Given the description of an element on the screen output the (x, y) to click on. 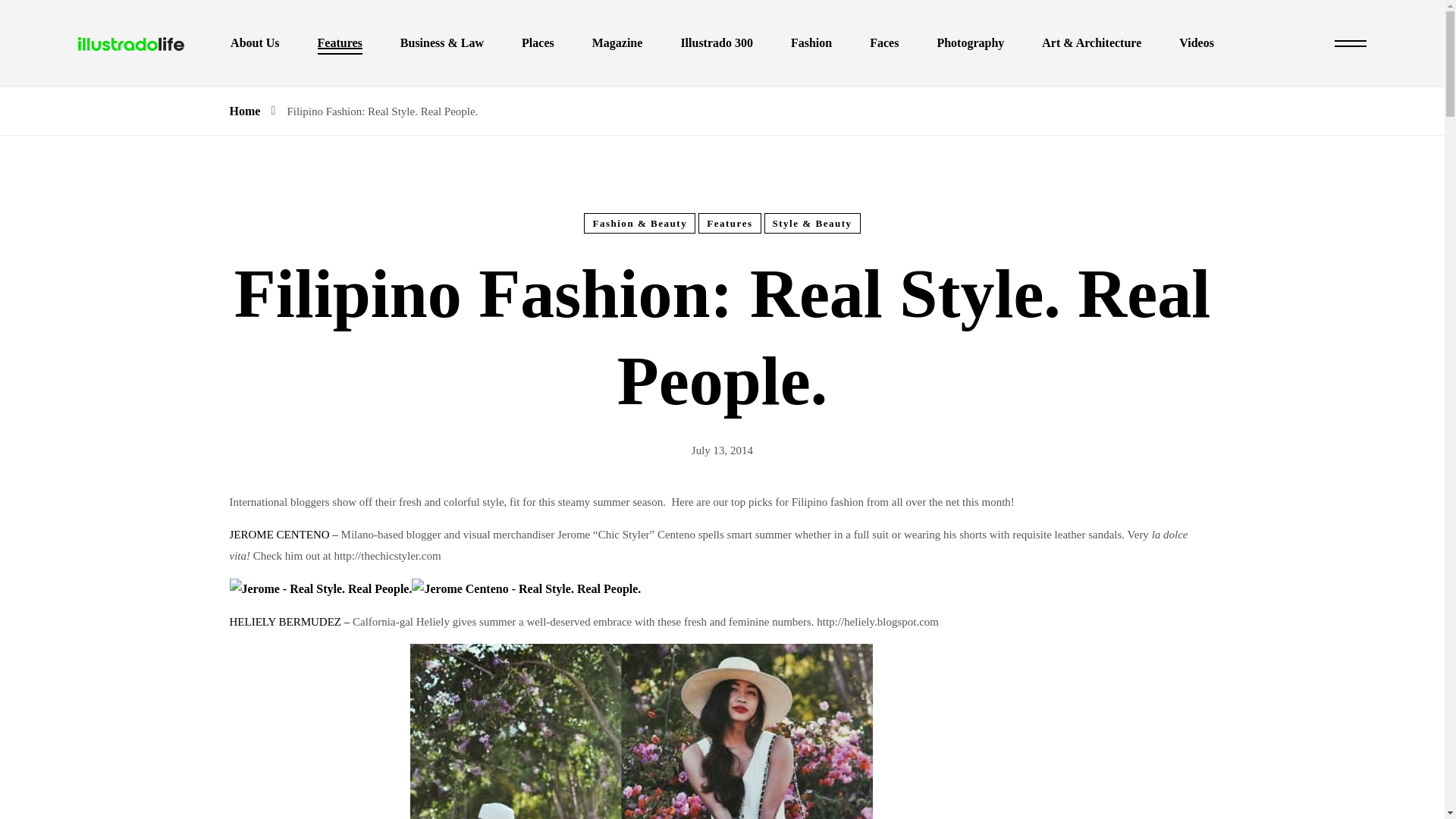
Faces (883, 42)
Features (339, 42)
About Us (254, 42)
Places (537, 42)
Illustrado 300 (715, 42)
Fashion (810, 42)
Magazine (617, 42)
Videos (1196, 42)
Photography (970, 42)
